Given the description of an element on the screen output the (x, y) to click on. 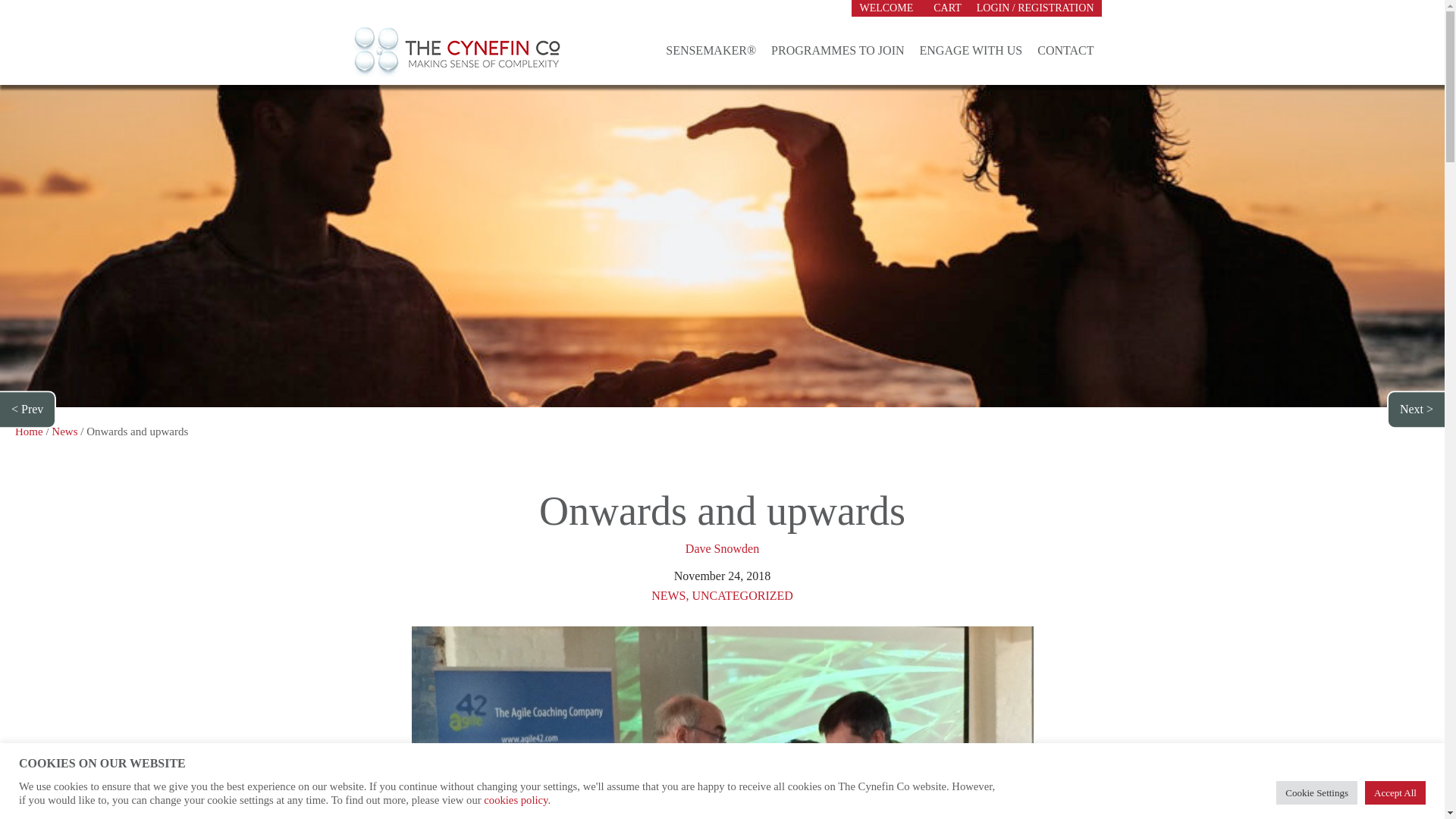
Dave Snowden (721, 548)
News (63, 431)
WELCOME   (888, 8)
CART (947, 8)
CONTACT (1064, 51)
Home (28, 431)
PROGRAMMES TO JOIN (836, 51)
ENGAGE WITH US (971, 51)
